Given the description of an element on the screen output the (x, y) to click on. 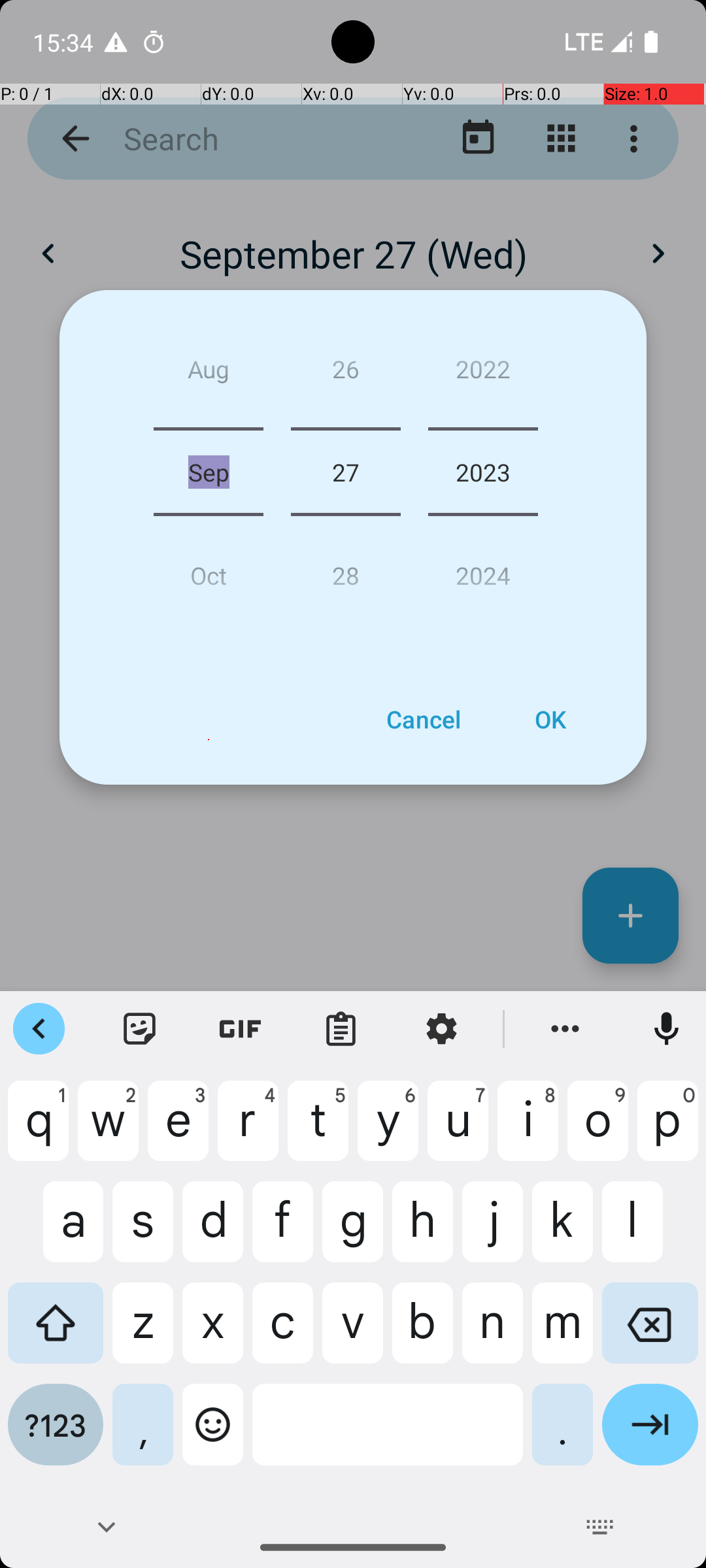
Aug Element type: android.widget.Button (208, 373)
Sep Element type: android.widget.EditText (208, 471)
Oct Element type: android.widget.Button (208, 569)
2022 Element type: android.widget.Button (482, 373)
2024 Element type: android.widget.Button (482, 569)
